Given the description of an element on the screen output the (x, y) to click on. 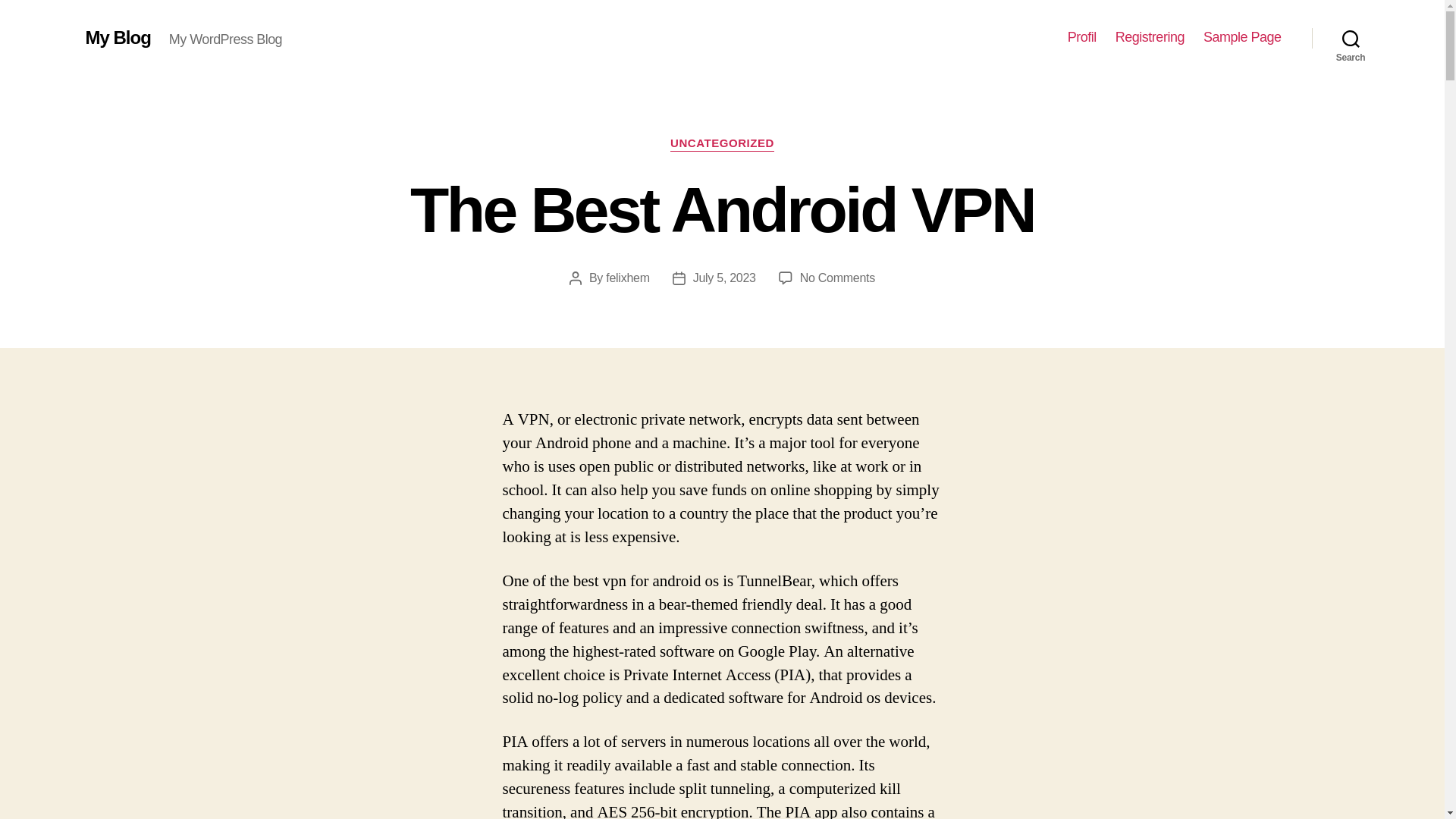
Registrering (1150, 37)
July 5, 2023 (724, 277)
Sample Page (1242, 37)
My Blog (116, 37)
felixhem (627, 277)
Search (1350, 37)
UNCATEGORIZED (721, 143)
Profil (1081, 37)
